Given the description of an element on the screen output the (x, y) to click on. 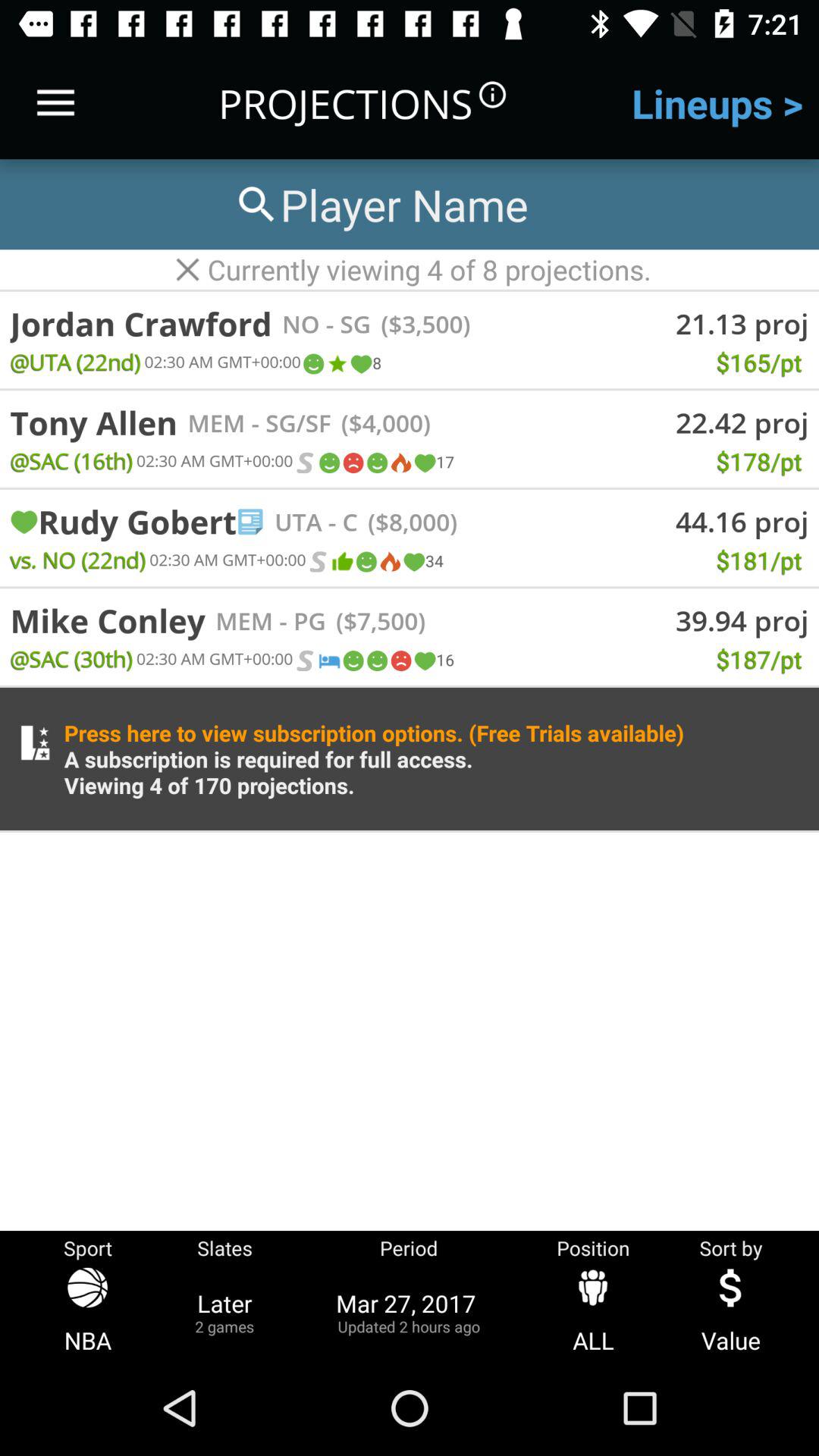
choose item below the mike conley icon (71, 658)
